Given the description of an element on the screen output the (x, y) to click on. 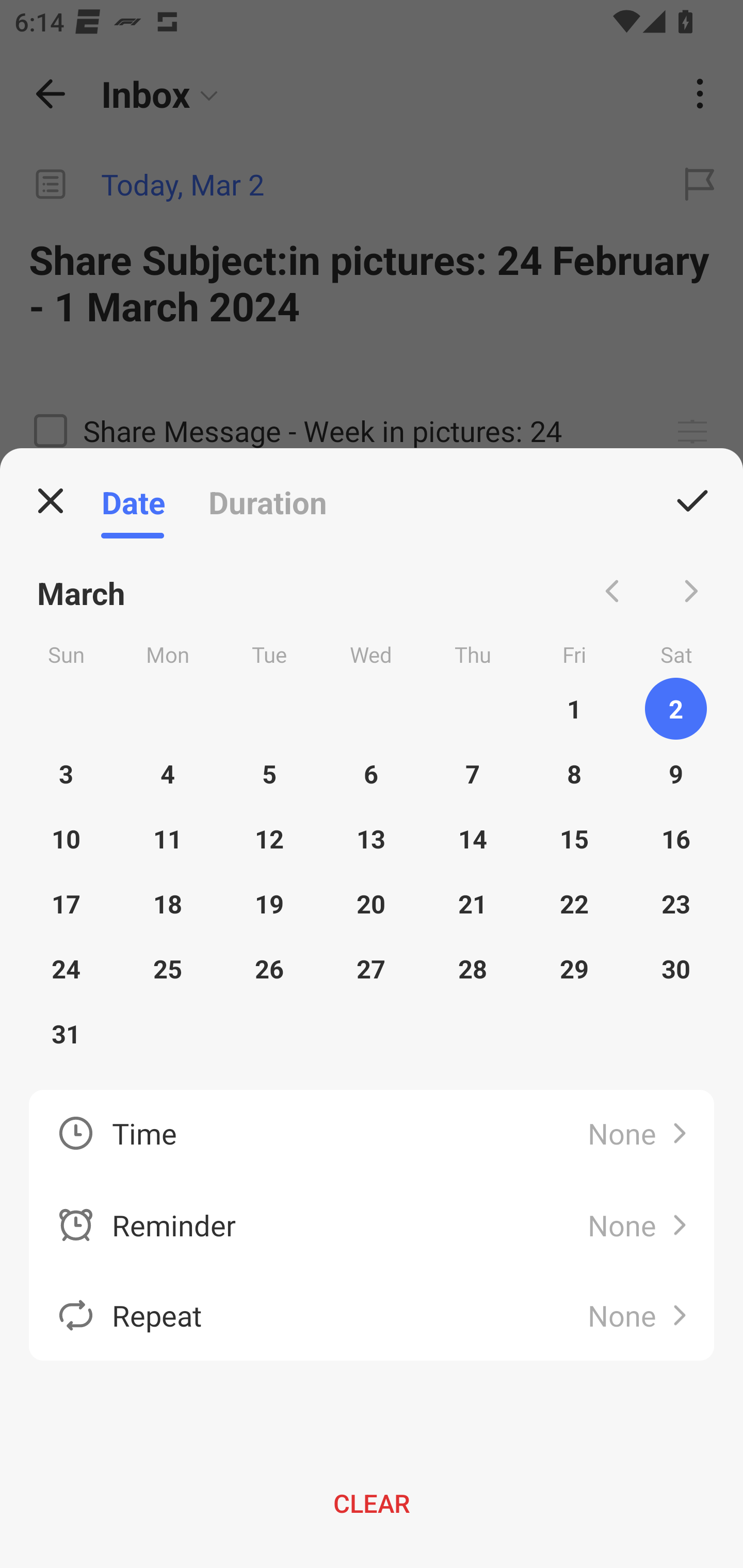
Duration (267, 501)
March (81, 591)
Time None (371, 1134)
Reminder None (371, 1225)
Repeat None (371, 1315)
CLEAR (371, 1502)
